Given the description of an element on the screen output the (x, y) to click on. 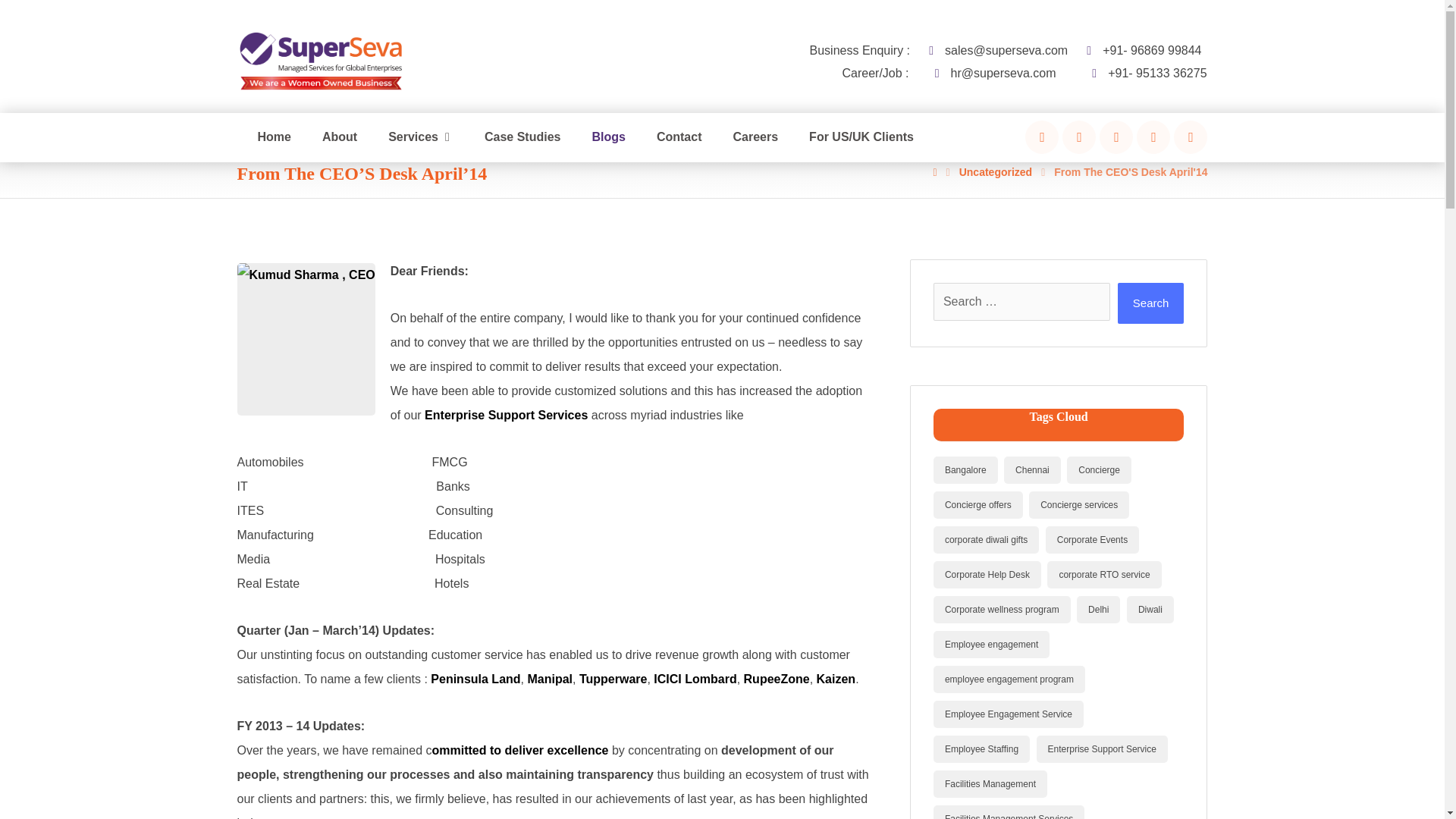
Services (420, 137)
Business Enquiry : (860, 49)
Search (1151, 302)
Careers (756, 137)
Blogs (607, 137)
Search (1151, 302)
About (338, 137)
Contact (678, 137)
Home (273, 137)
Case Studies (522, 137)
